Given the description of an element on the screen output the (x, y) to click on. 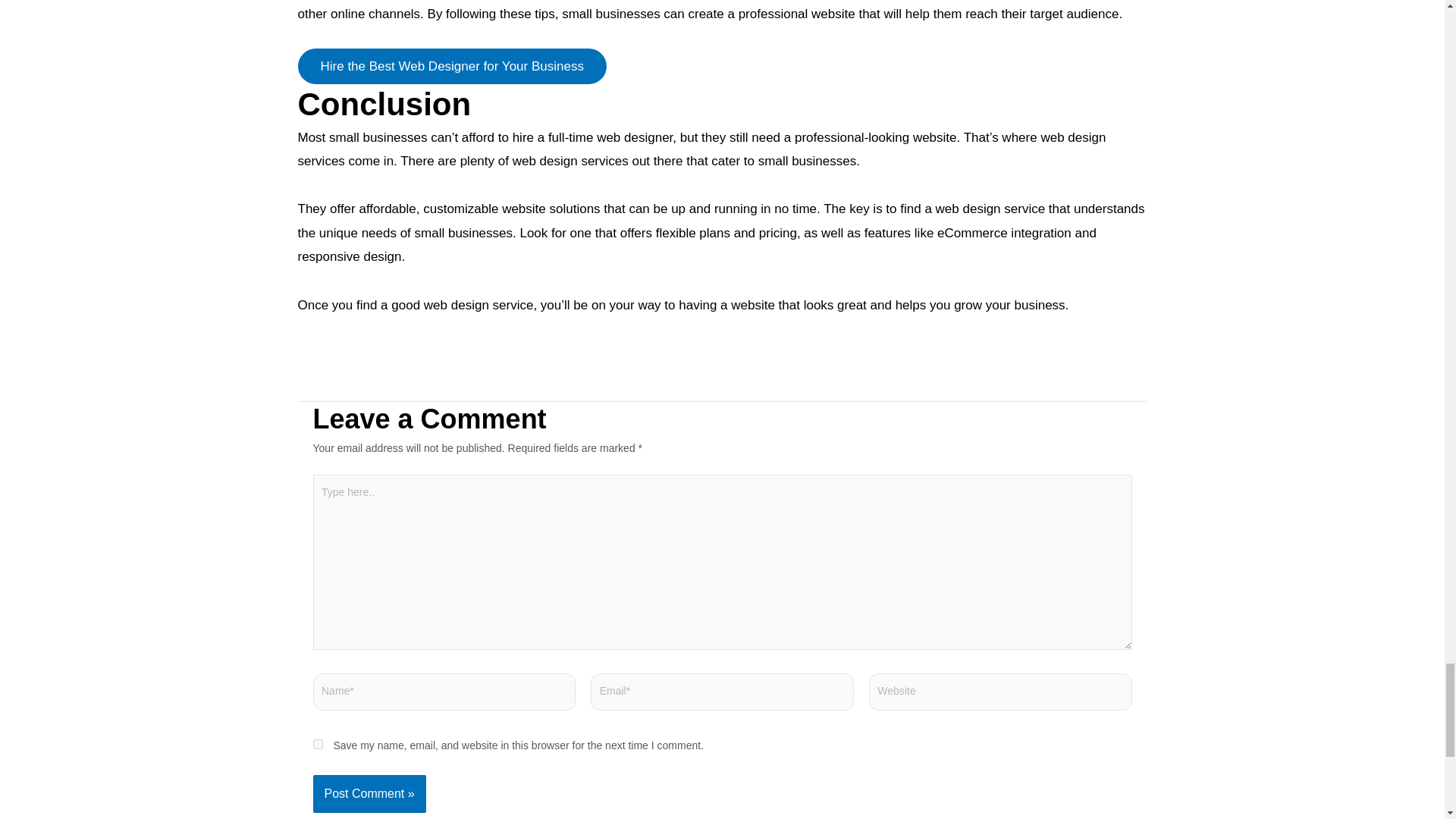
yes (317, 744)
Hire the Best Web Designer for Your Business (451, 66)
